Given the description of an element on the screen output the (x, y) to click on. 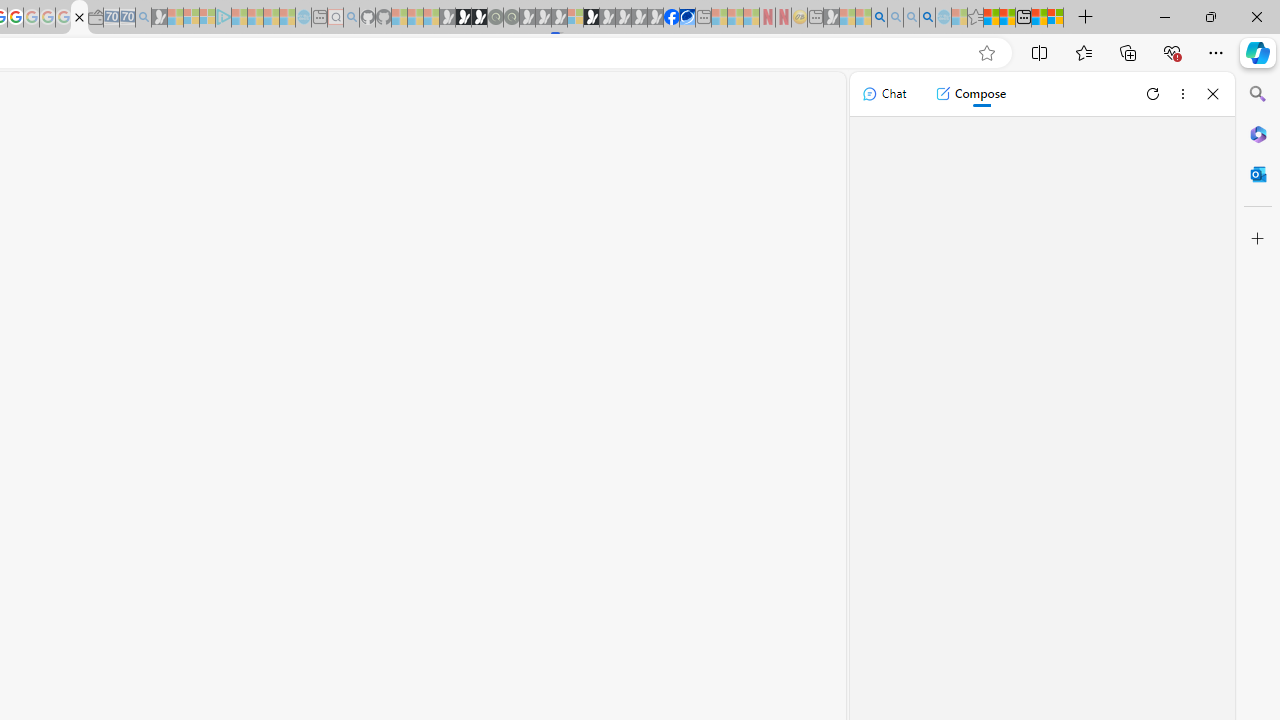
Bing AI - Search (879, 17)
Compose (970, 93)
AQI & Health | AirNow.gov (687, 17)
